Given the description of an element on the screen output the (x, y) to click on. 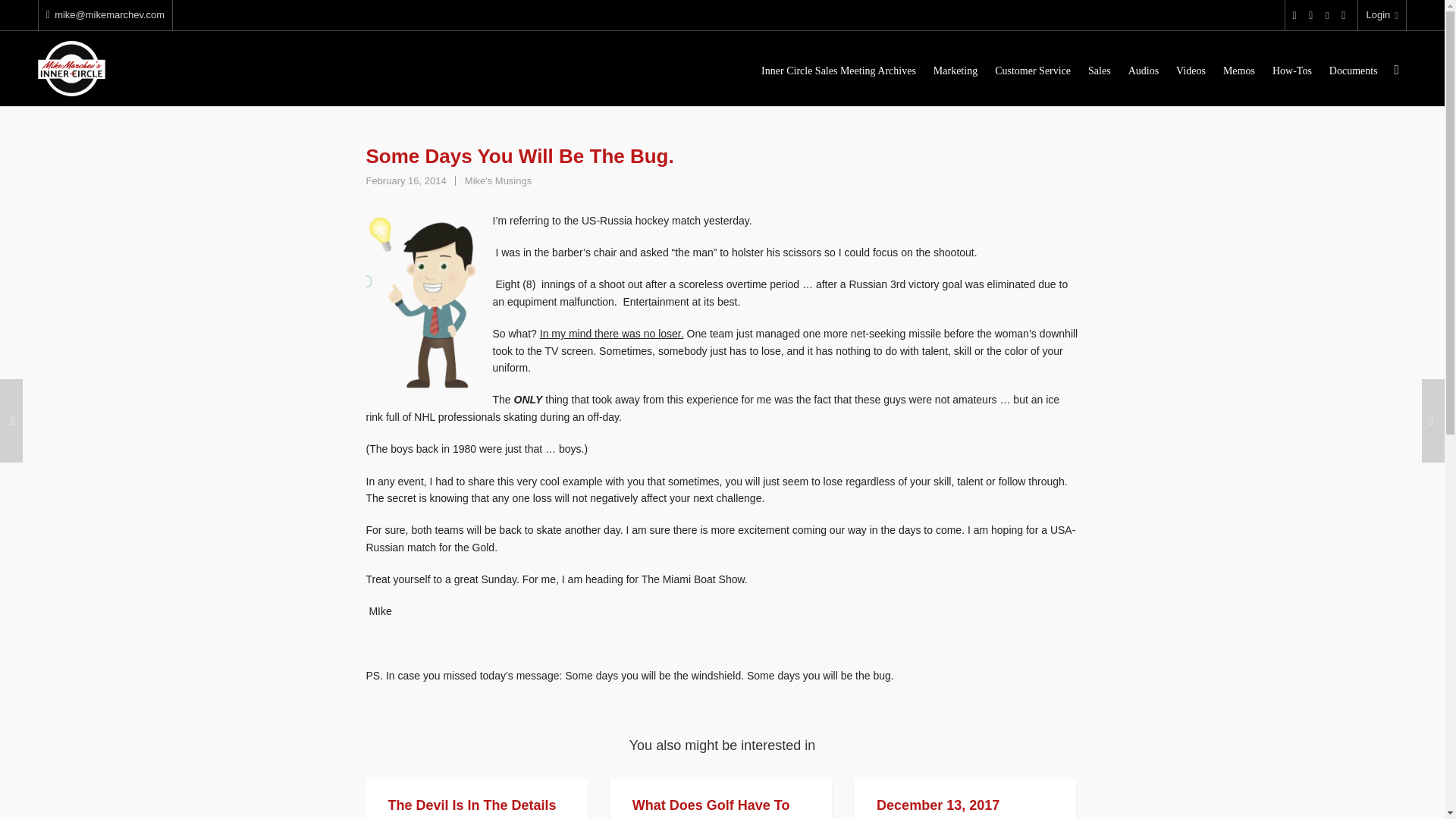
December 13, 2017 (937, 805)
Login (1381, 15)
Customer Service (1032, 69)
Mike's Musings (497, 180)
The Devil Is In The Details (472, 805)
Inner Circle Sales Meeting Archives (838, 69)
What Does Golf Have To Do With It? (710, 808)
